Given the description of an element on the screen output the (x, y) to click on. 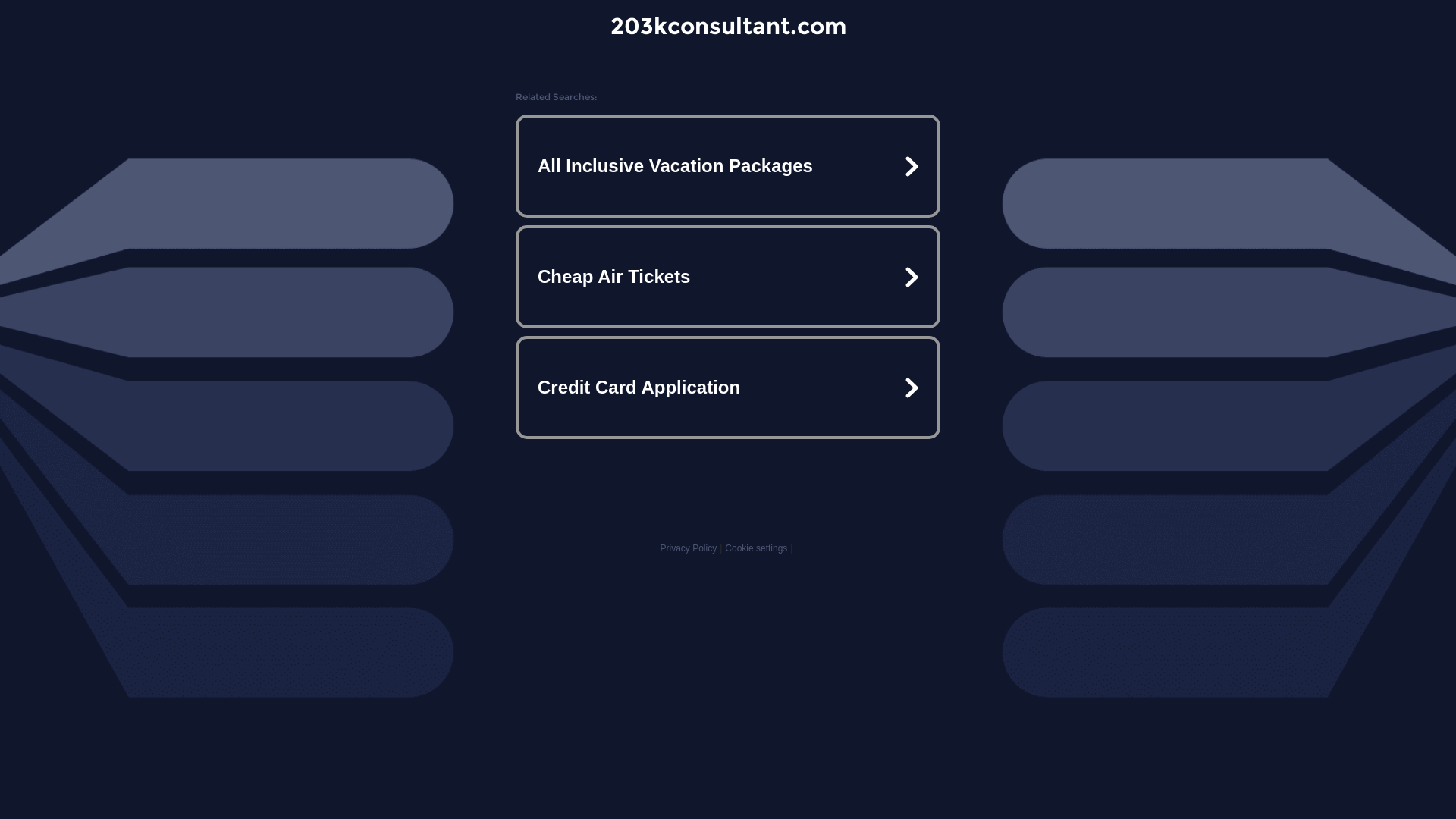
All Inclusive Vacation Packages Element type: text (727, 165)
Credit Card Application Element type: text (727, 387)
203kconsultant.com Element type: text (727, 26)
Privacy Policy Element type: text (687, 547)
Cheap Air Tickets Element type: text (727, 276)
Cookie settings Element type: text (755, 547)
